Given the description of an element on the screen output the (x, y) to click on. 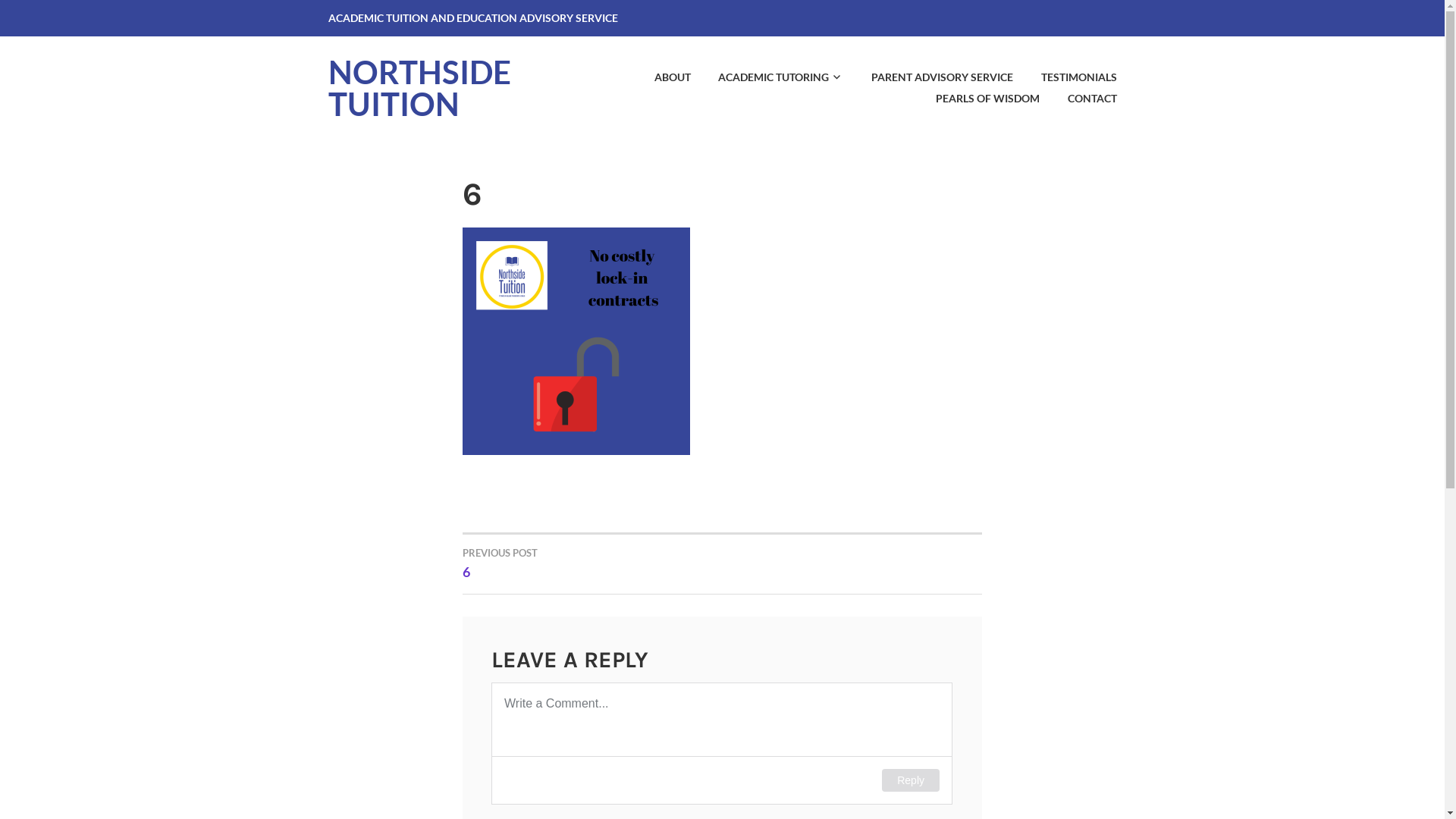
PARENT ADVISORY SERVICE Element type: text (929, 76)
PEARLS OF WISDOM Element type: text (974, 98)
NORTHSIDE TUITION Element type: text (418, 87)
CONTACT Element type: text (1079, 98)
ACADEMIC TUTORING Element type: text (768, 76)
PREVIOUS POST
6 Element type: text (592, 562)
TESTIMONIALS Element type: text (1066, 76)
ABOUT Element type: text (659, 76)
Comment Form Element type: hover (721, 743)
